Given the description of an element on the screen output the (x, y) to click on. 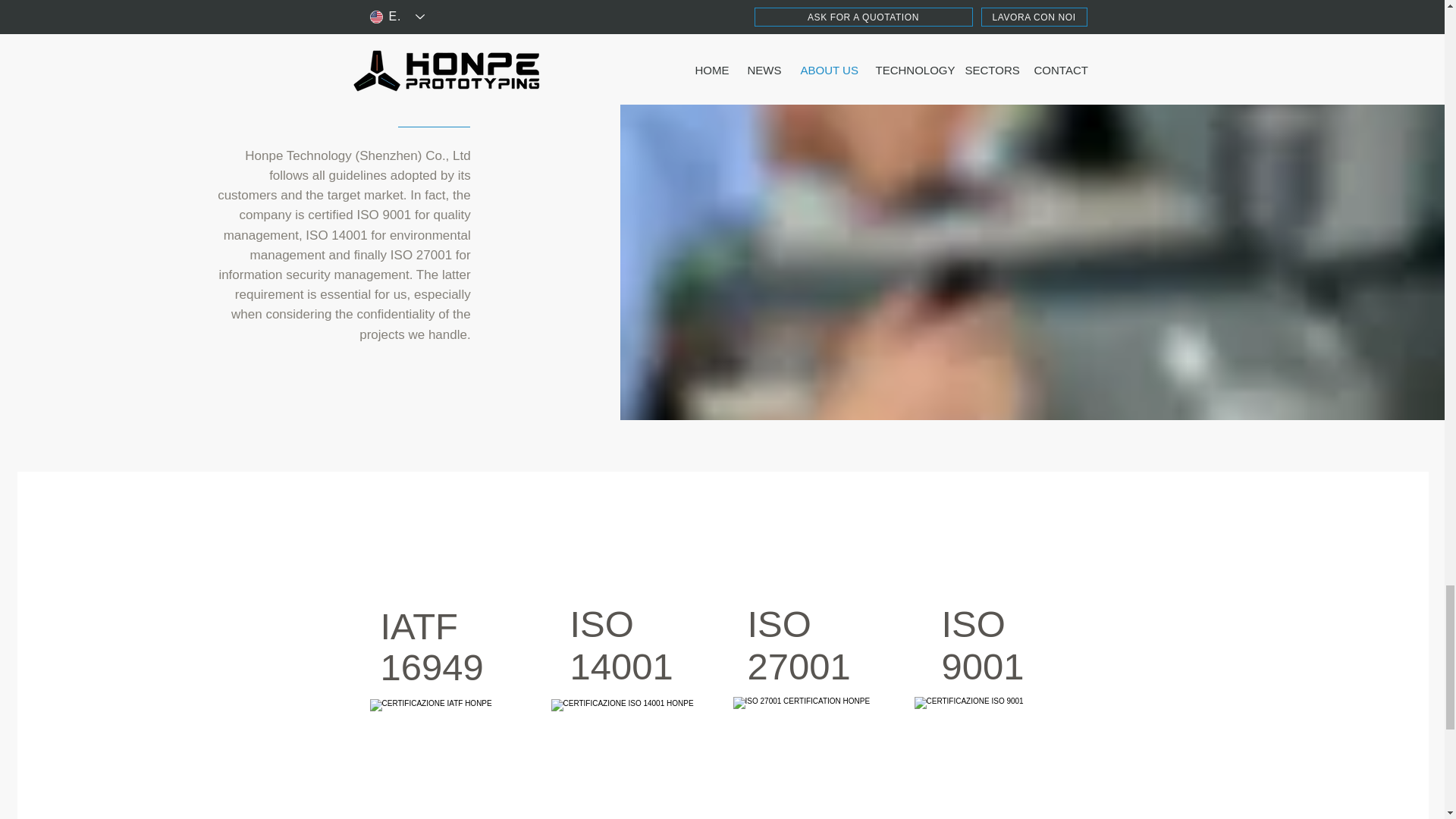
ISO 27001 CERTIFICATION HONPE (812, 757)
 CERTIFICATION ISO HONPE (630, 759)
 CERTIFICATION ISO HONPE (994, 757)
 CERTIFICATION IATF HONPE (450, 759)
